Given the description of an element on the screen output the (x, y) to click on. 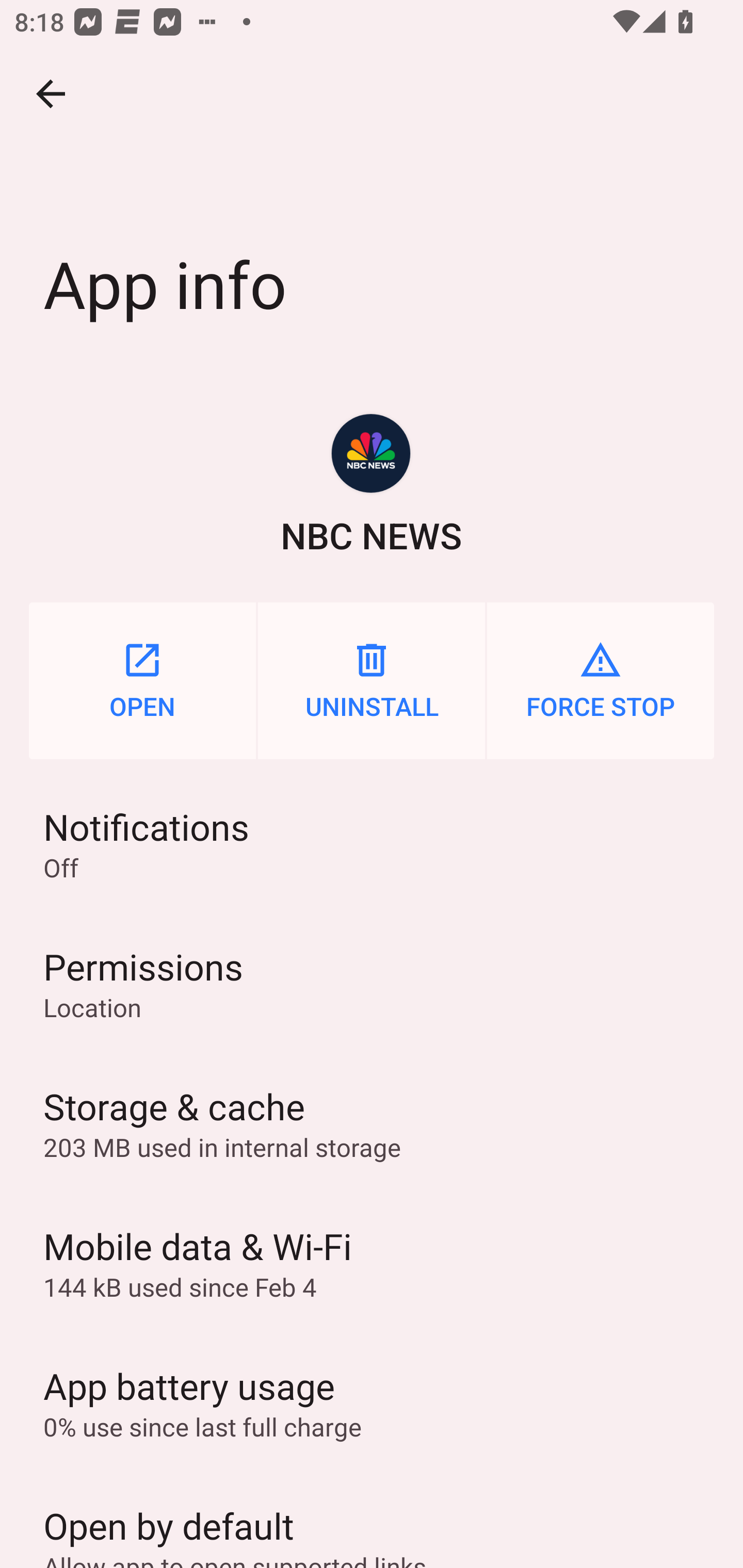
Navigate up (50, 93)
OPEN (141, 680)
UNINSTALL (371, 680)
FORCE STOP (600, 680)
Notifications Off (371, 843)
Permissions Location (371, 983)
Storage & cache 203 MB used in internal storage (371, 1123)
Mobile data & Wi‑Fi 144 kB used since Feb 4 (371, 1262)
App battery usage 0% use since last full charge (371, 1402)
Open by default Allow app to open supported links (371, 1520)
